Given the description of an element on the screen output the (x, y) to click on. 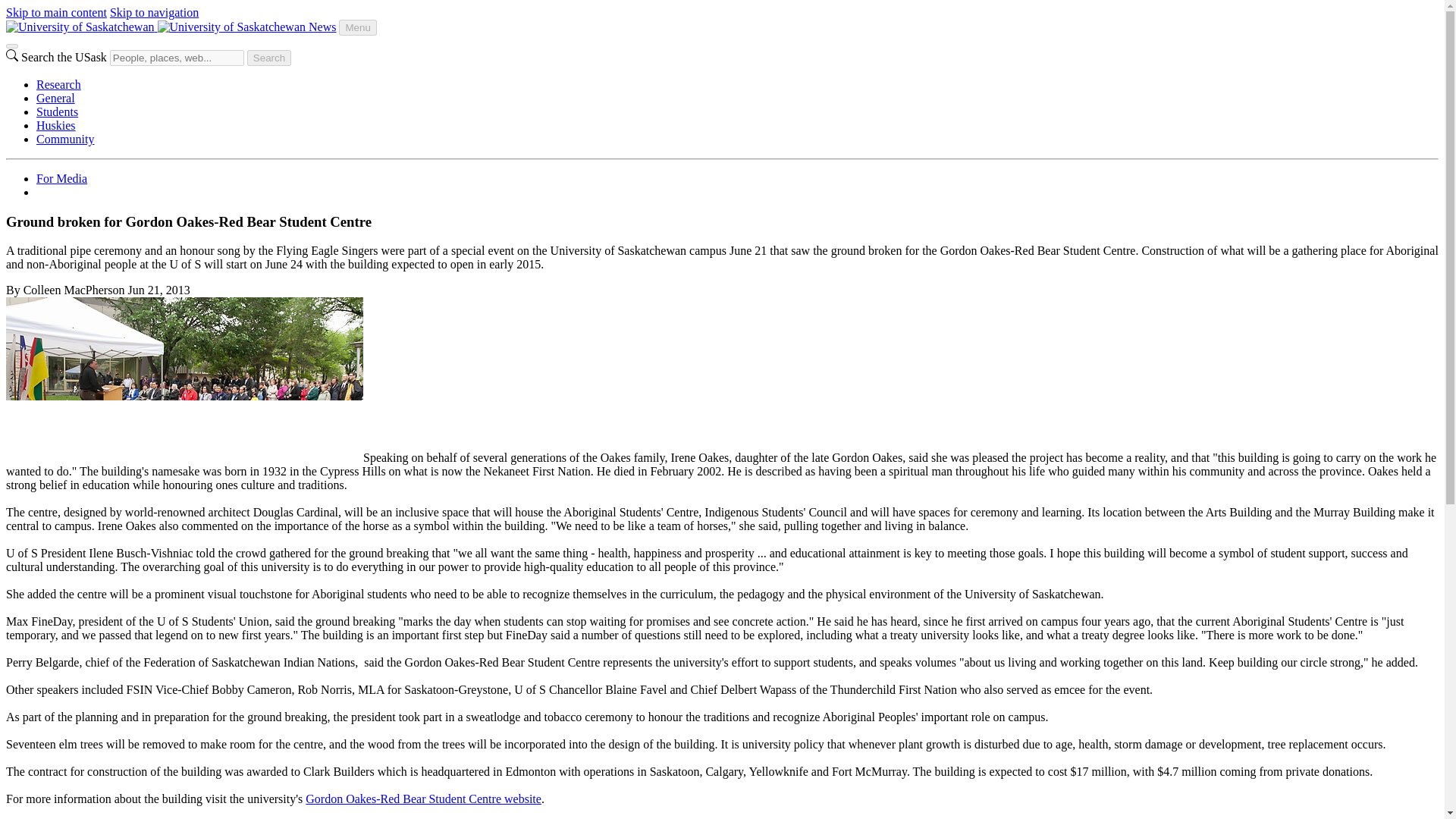
Skip to main content (55, 11)
Community (65, 138)
Research (58, 83)
Menu (357, 27)
Skip to navigation (154, 11)
News (322, 26)
Search (269, 57)
General (55, 97)
Students (57, 111)
Gordon Oakes-Red Bear Student Centre website (423, 798)
Huskies (55, 124)
For Media (61, 178)
